Given the description of an element on the screen output the (x, y) to click on. 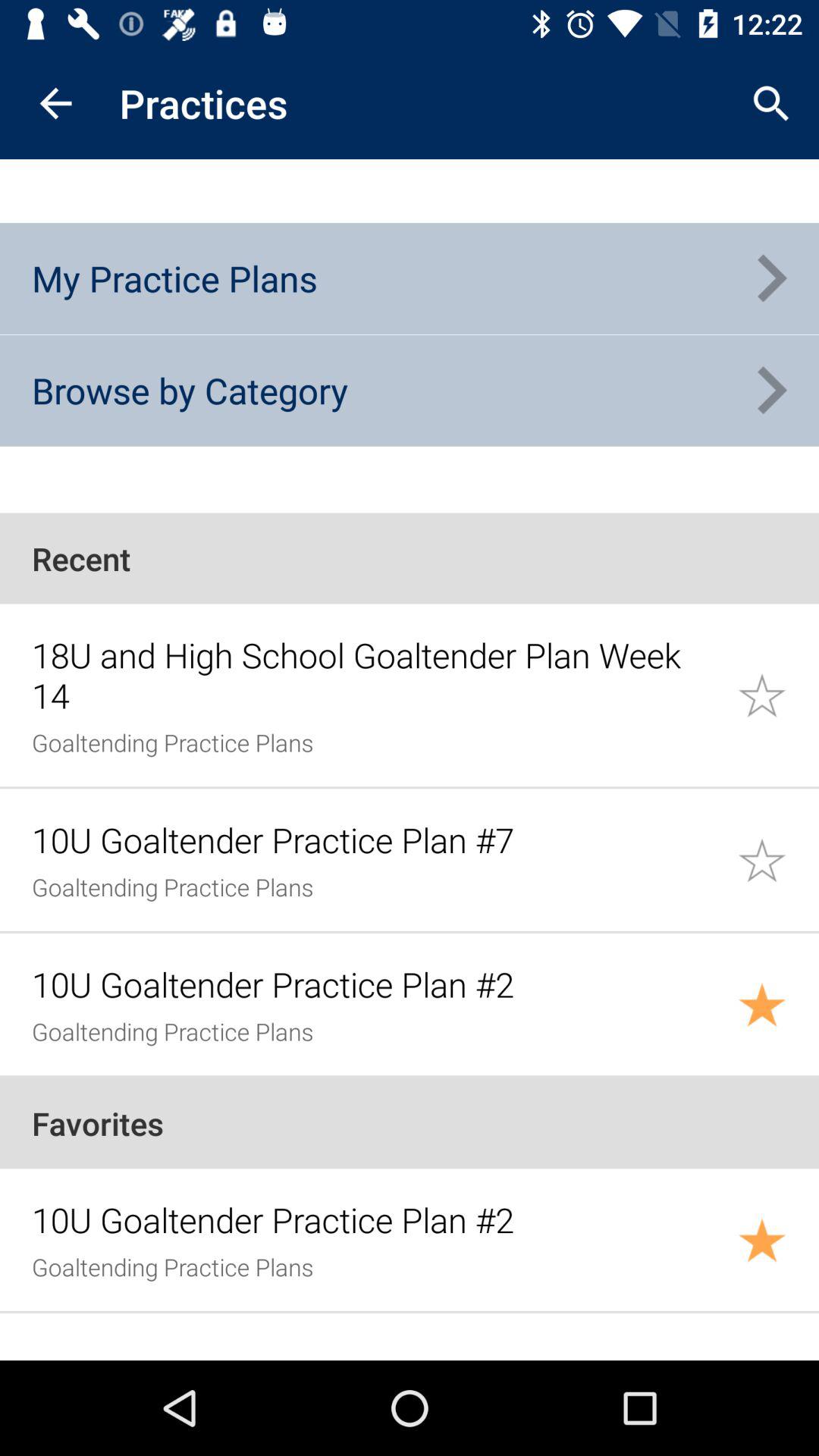
favorite this practice plan (778, 694)
